Given the description of an element on the screen output the (x, y) to click on. 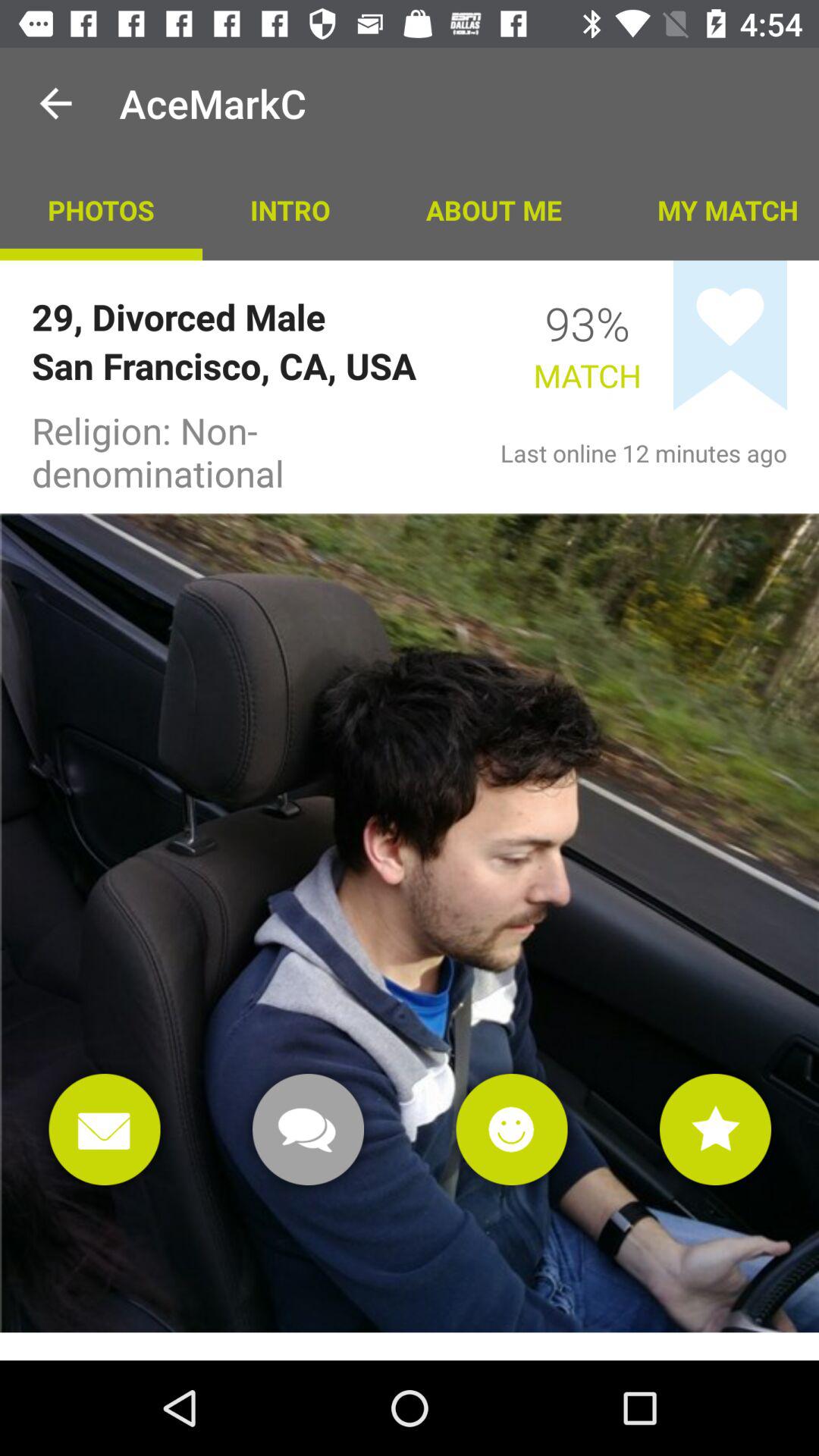
emojis (511, 1129)
